Given the description of an element on the screen output the (x, y) to click on. 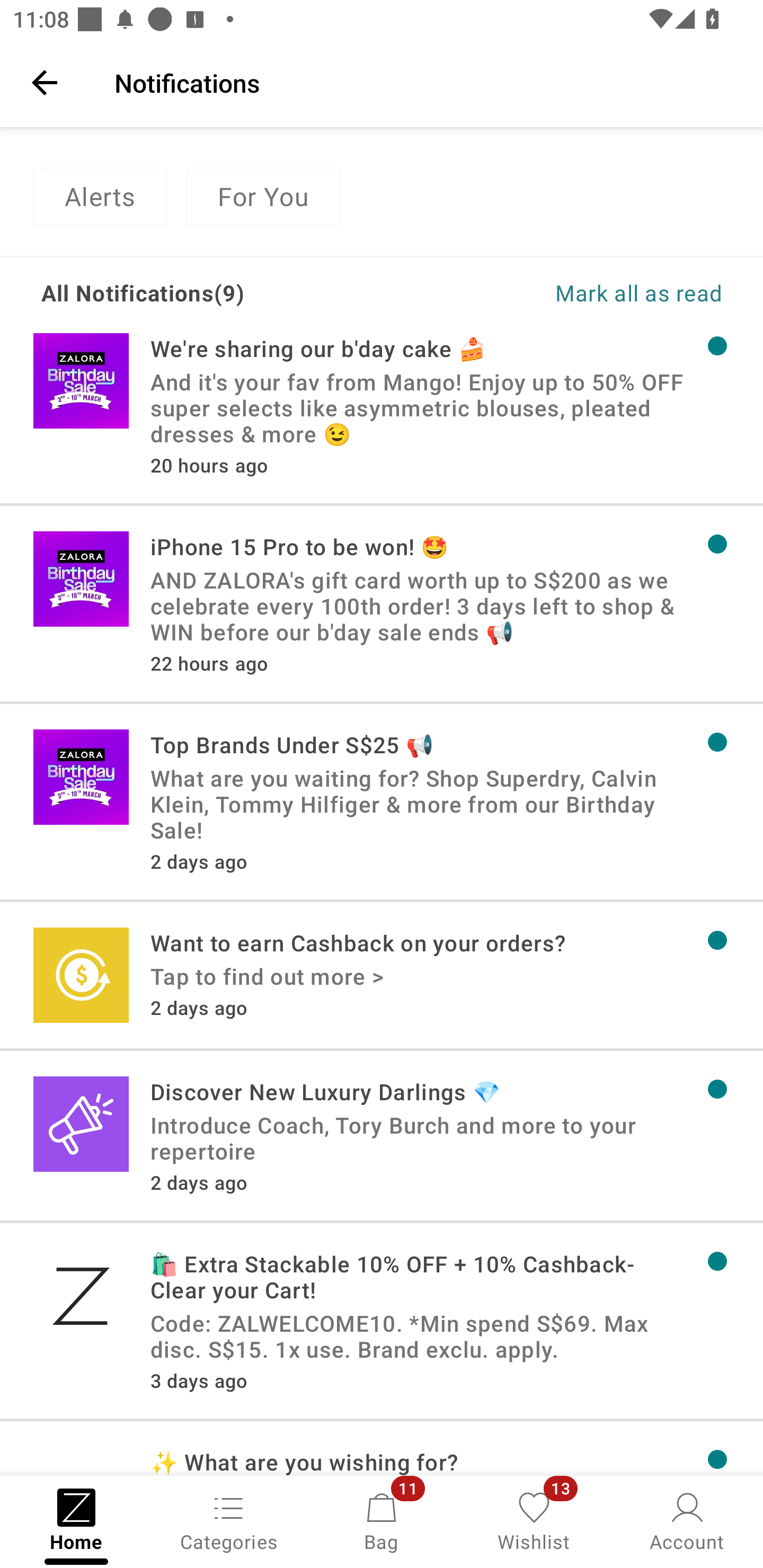
Navigate up (44, 82)
Notifications (426, 82)
Alerts (99, 196)
For You (262, 196)
Mark all as read (551, 292)
Categories (228, 1519)
Bag, 11 new notifications Bag (381, 1519)
Wishlist, 13 new notifications Wishlist (533, 1519)
Account (686, 1519)
